Given the description of an element on the screen output the (x, y) to click on. 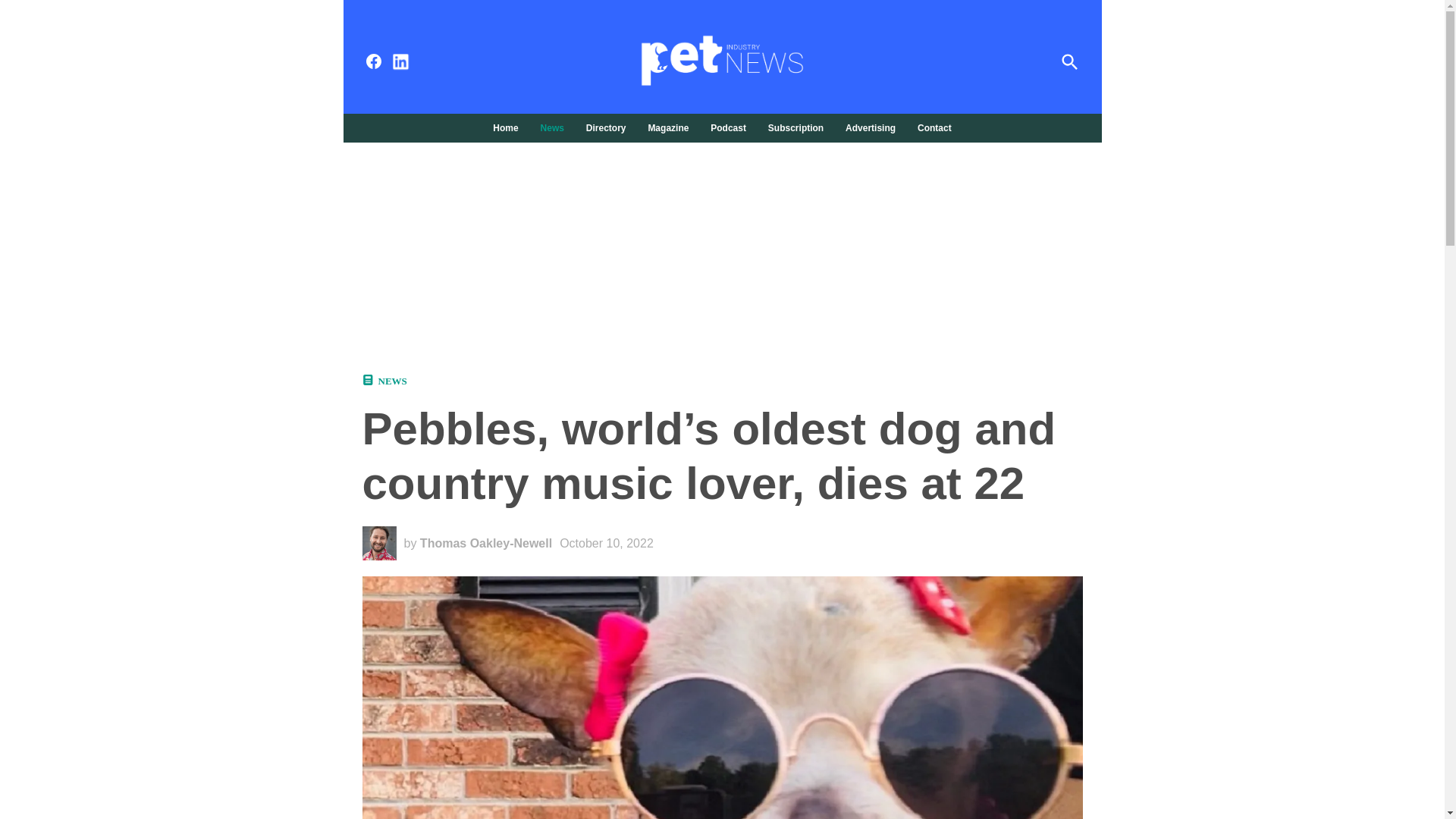
Contact (931, 127)
Podcast (728, 127)
Directory (605, 127)
LinkedIn (400, 61)
Facebook (372, 61)
Advertising (870, 127)
Home (509, 127)
Magazine (667, 127)
Thomas Oakley-Newell (485, 543)
